Given the description of an element on the screen output the (x, y) to click on. 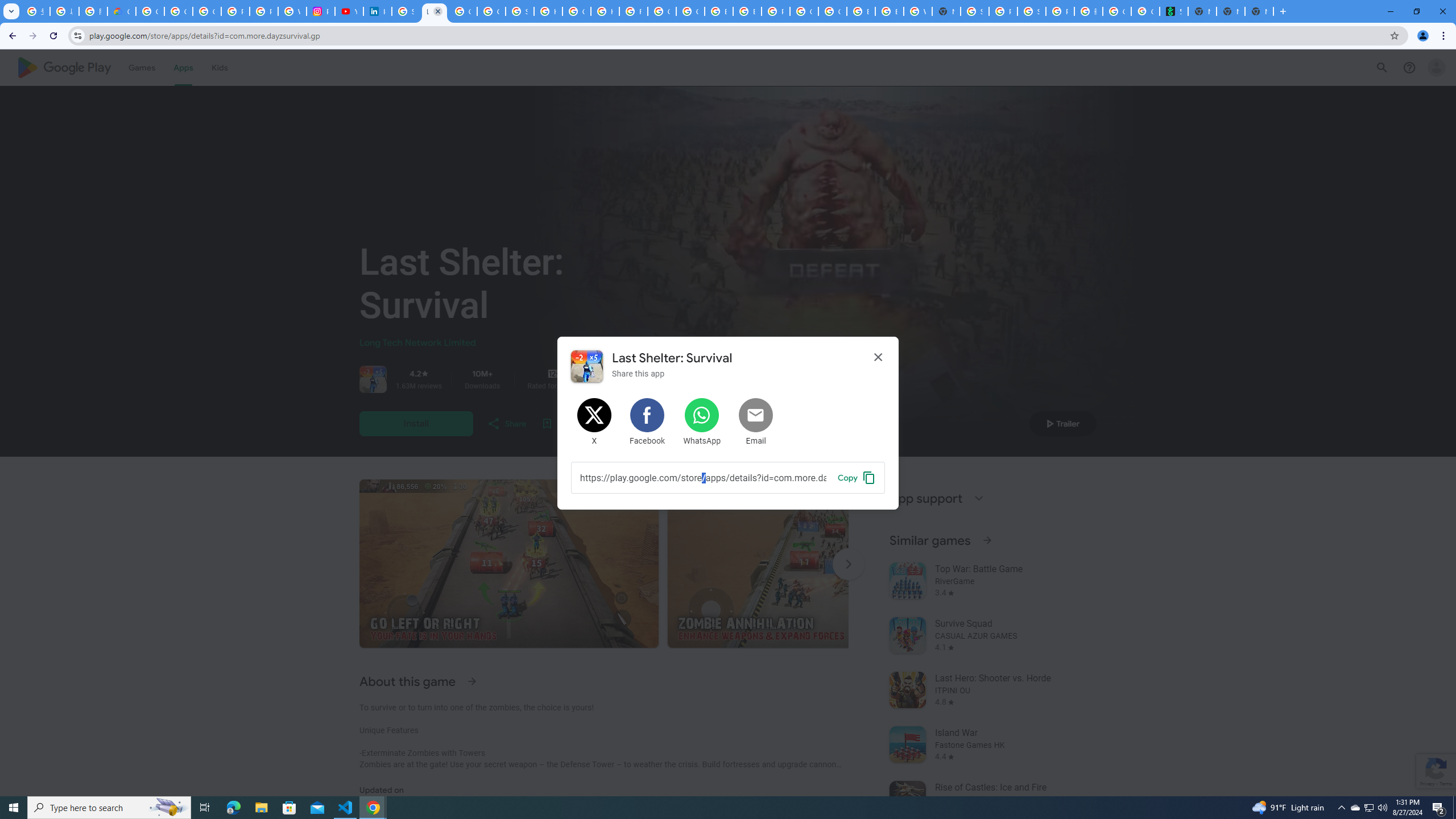
Sign in - Google Accounts (974, 11)
Browse Chrome as a guest - Computer - Google Chrome Help (860, 11)
How do I create a new Google Account? - Google Account Help (604, 11)
Share on WhatsApp (701, 421)
Privacy Help Center - Policies Help (263, 11)
Copy link to clipboard (856, 477)
Sign in - Google Accounts (406, 11)
Copy link to clipboard (703, 477)
